Given the description of an element on the screen output the (x, y) to click on. 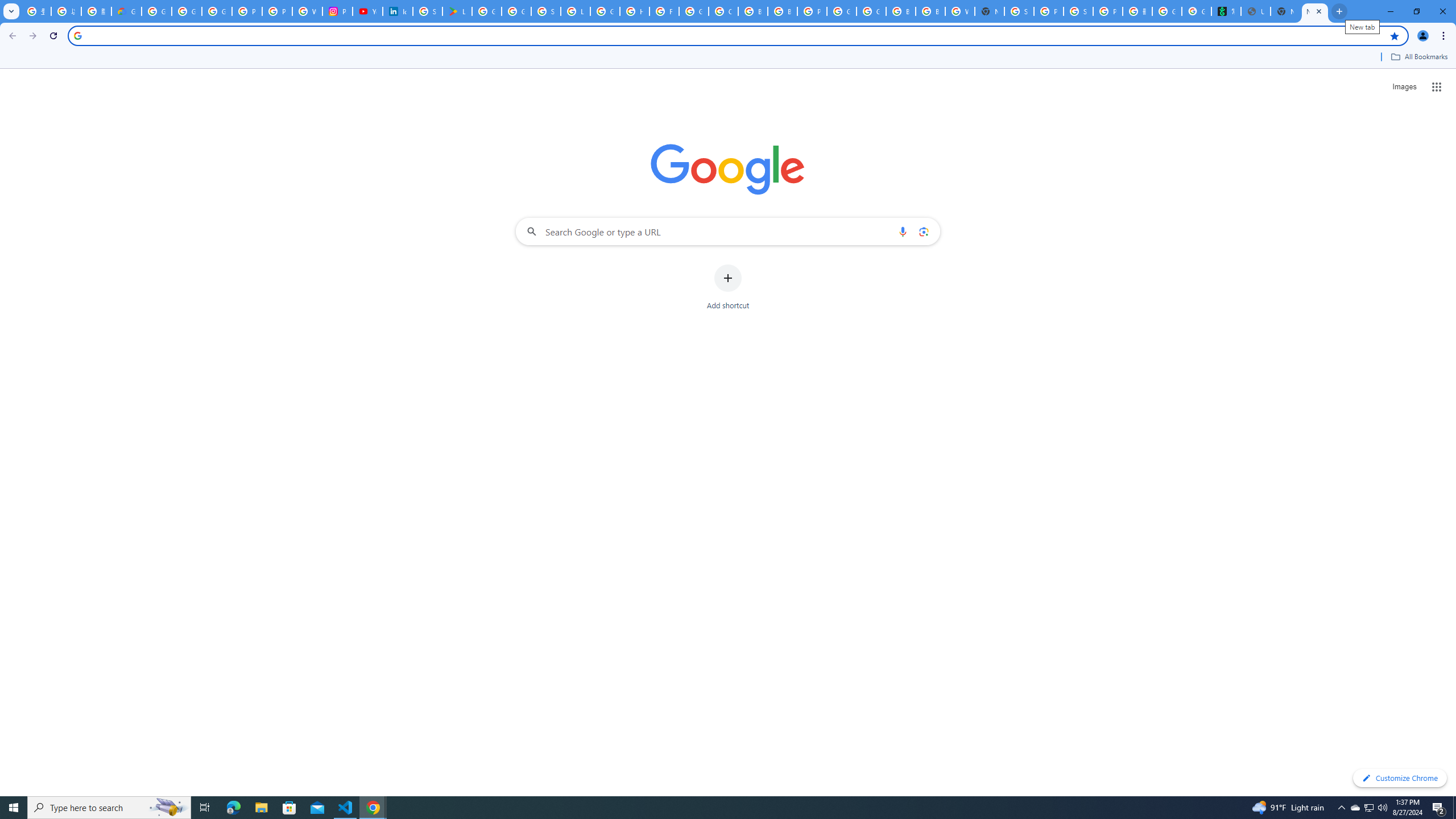
Browse Chrome as a guest - Computer - Google Chrome Help (753, 11)
Sign in - Google Accounts (426, 11)
How do I create a new Google Account? - Google Account Help (634, 11)
Add shortcut (727, 287)
Bookmarks (728, 58)
